Given the description of an element on the screen output the (x, y) to click on. 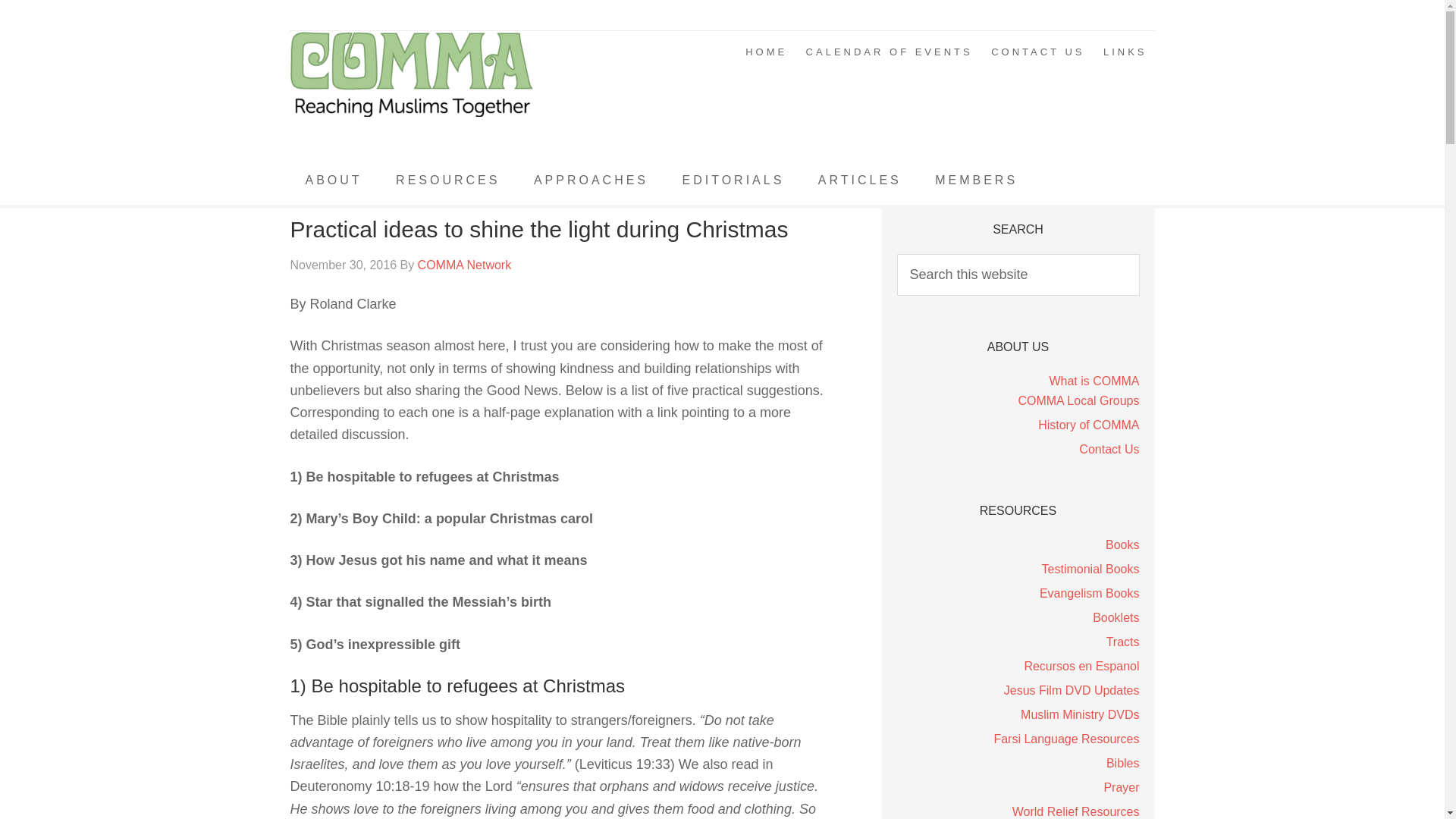
HOME (766, 51)
ABOUT (333, 180)
LINKS (1125, 51)
CONTACT US (1038, 51)
COMMA Network (410, 93)
CALENDAR OF EVENTS (888, 51)
home (766, 51)
APPROACHES (590, 180)
